Given the description of an element on the screen output the (x, y) to click on. 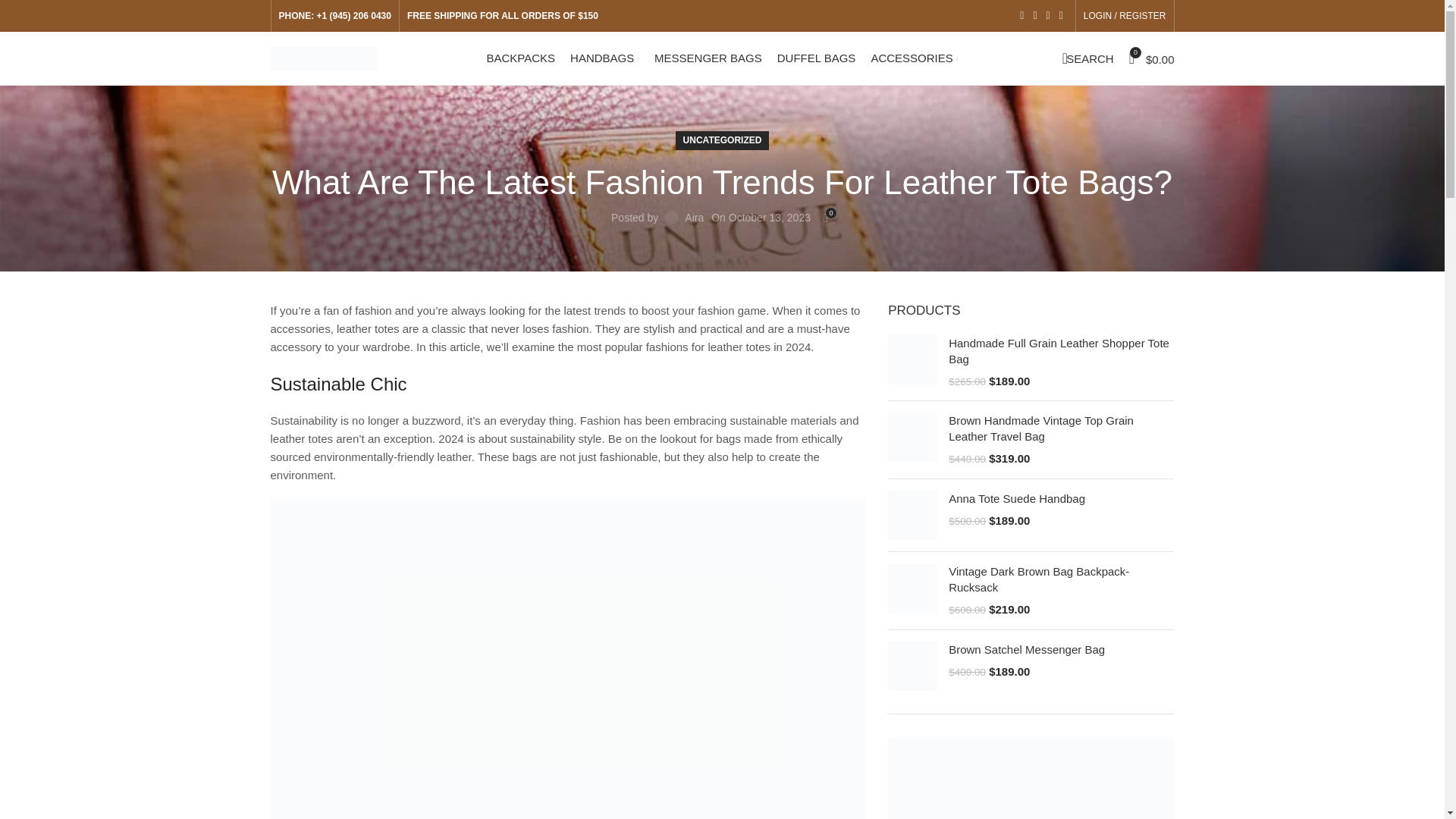
Brown Satchel Messenger Bag (912, 666)
Vintage Dark Brown Bag Backpack-Rucksack (912, 590)
Log in (1040, 250)
UNCATEGORIZED (721, 140)
BACKPACKS (521, 58)
Search (1086, 58)
Brown Handmade Vintage Top Grain Leather Travel Bag (1061, 428)
Anna Tote Suede Handbag (912, 514)
DUFFEL BAGS (816, 58)
Shopping cart (1151, 58)
